Given the description of an element on the screen output the (x, y) to click on. 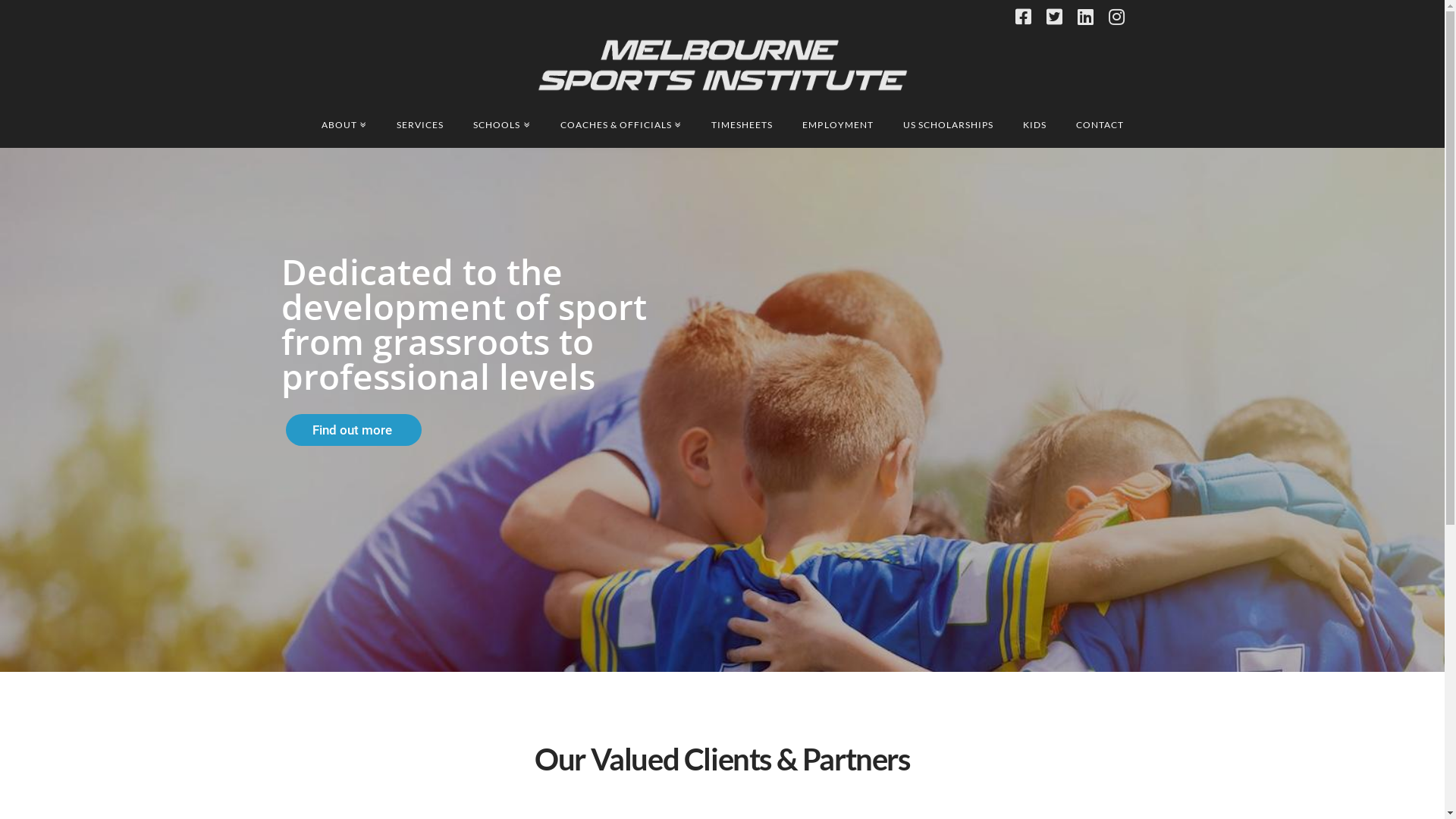
LinkedIn Element type: hover (1084, 16)
EMPLOYMENT Element type: text (837, 124)
Twitter Element type: hover (1054, 16)
US SCHOLARSHIPS Element type: text (947, 124)
KIDS Element type: text (1033, 124)
SCHOOLS Element type: text (501, 124)
CONTACT Element type: text (1099, 124)
Facebook Element type: hover (1022, 16)
COACHES & OFFICIALS Element type: text (620, 124)
TIMESHEETS Element type: text (741, 124)
ABOUT Element type: text (343, 124)
SERVICES Element type: text (419, 124)
Instagram Element type: hover (1116, 16)
